Given the description of an element on the screen output the (x, y) to click on. 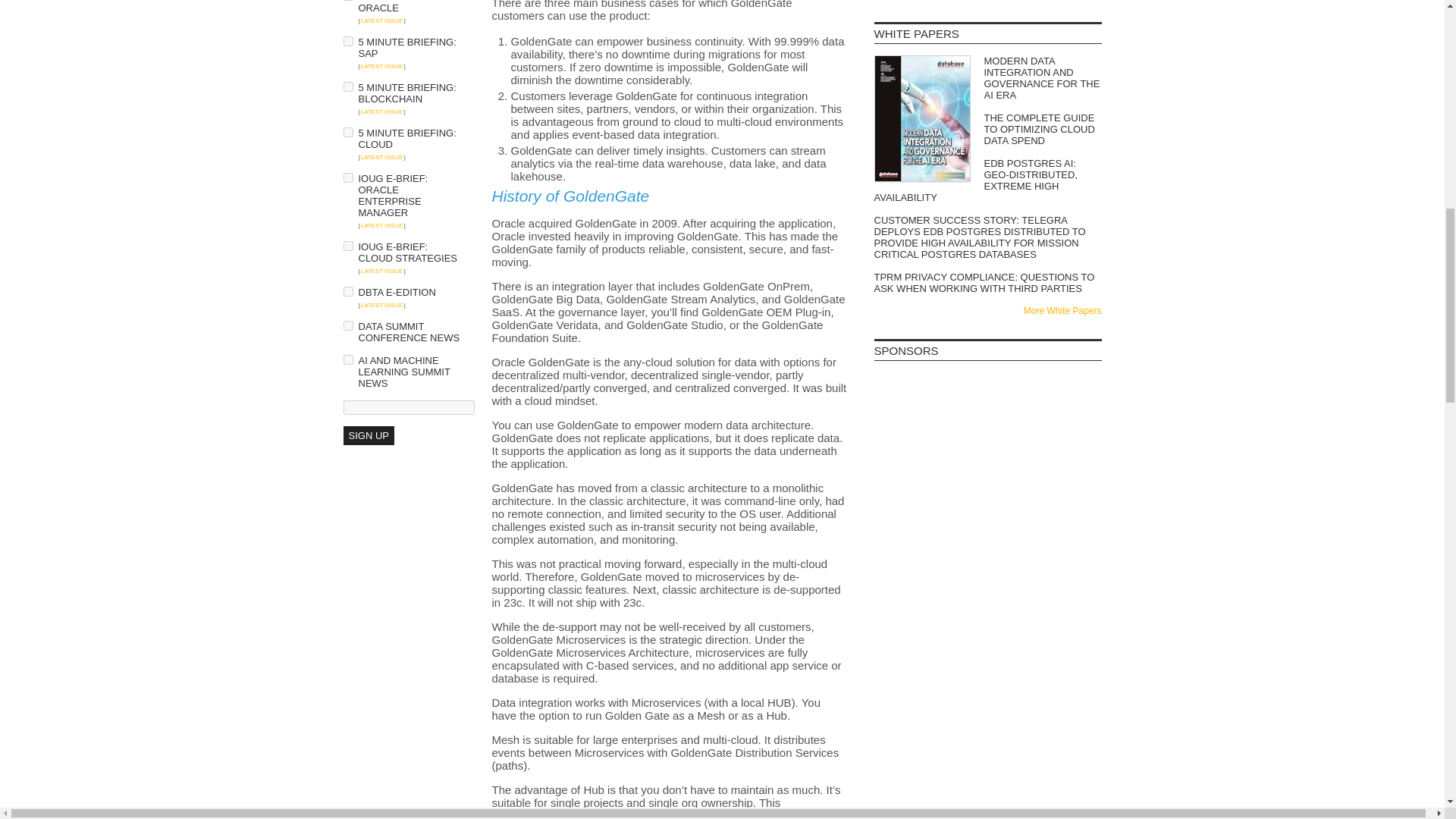
on (347, 86)
Modern Data Integration and Governance for the AI Era (986, 77)
Sign Up (367, 435)
on (347, 177)
on (347, 40)
EDB Postgres Ai: Geo-distributed, Extreme High Availability (986, 180)
on (347, 325)
on (347, 291)
